Given the description of an element on the screen output the (x, y) to click on. 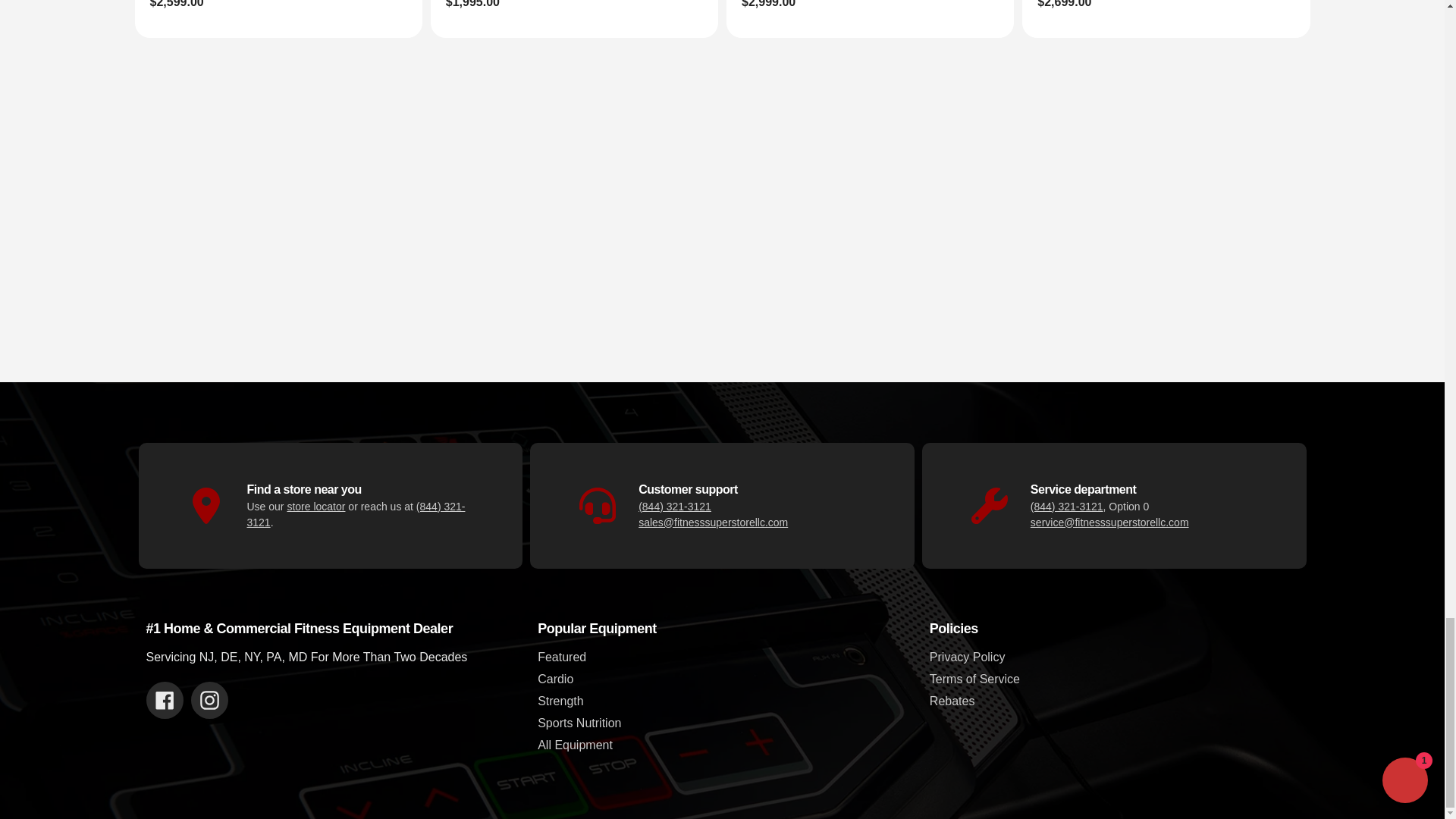
Our Locations (315, 505)
